Given the description of an element on the screen output the (x, y) to click on. 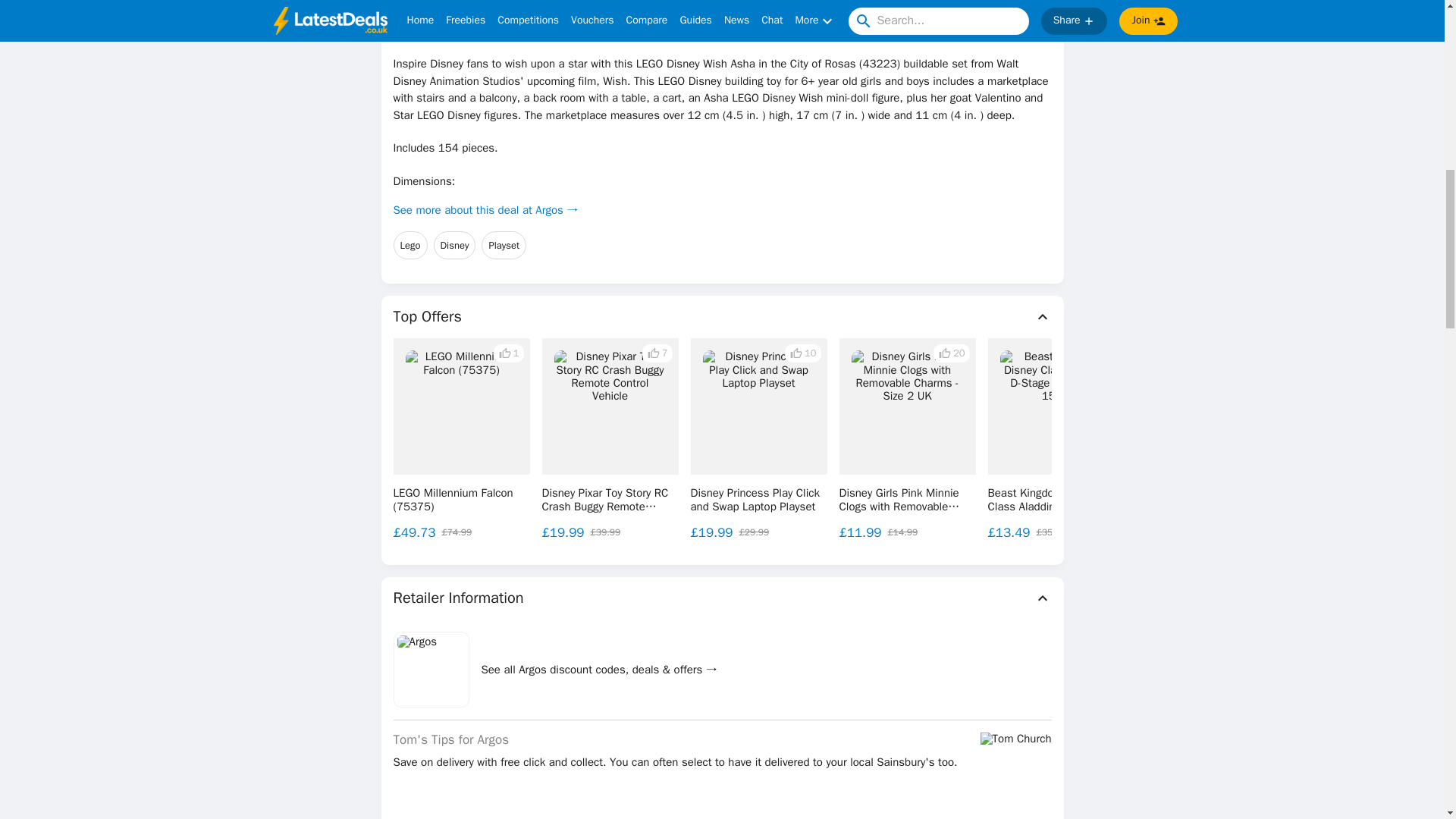
Top Offers (722, 316)
Disney (454, 245)
Playset (503, 245)
See more offers (1329, 439)
Lego (409, 245)
